Given the description of an element on the screen output the (x, y) to click on. 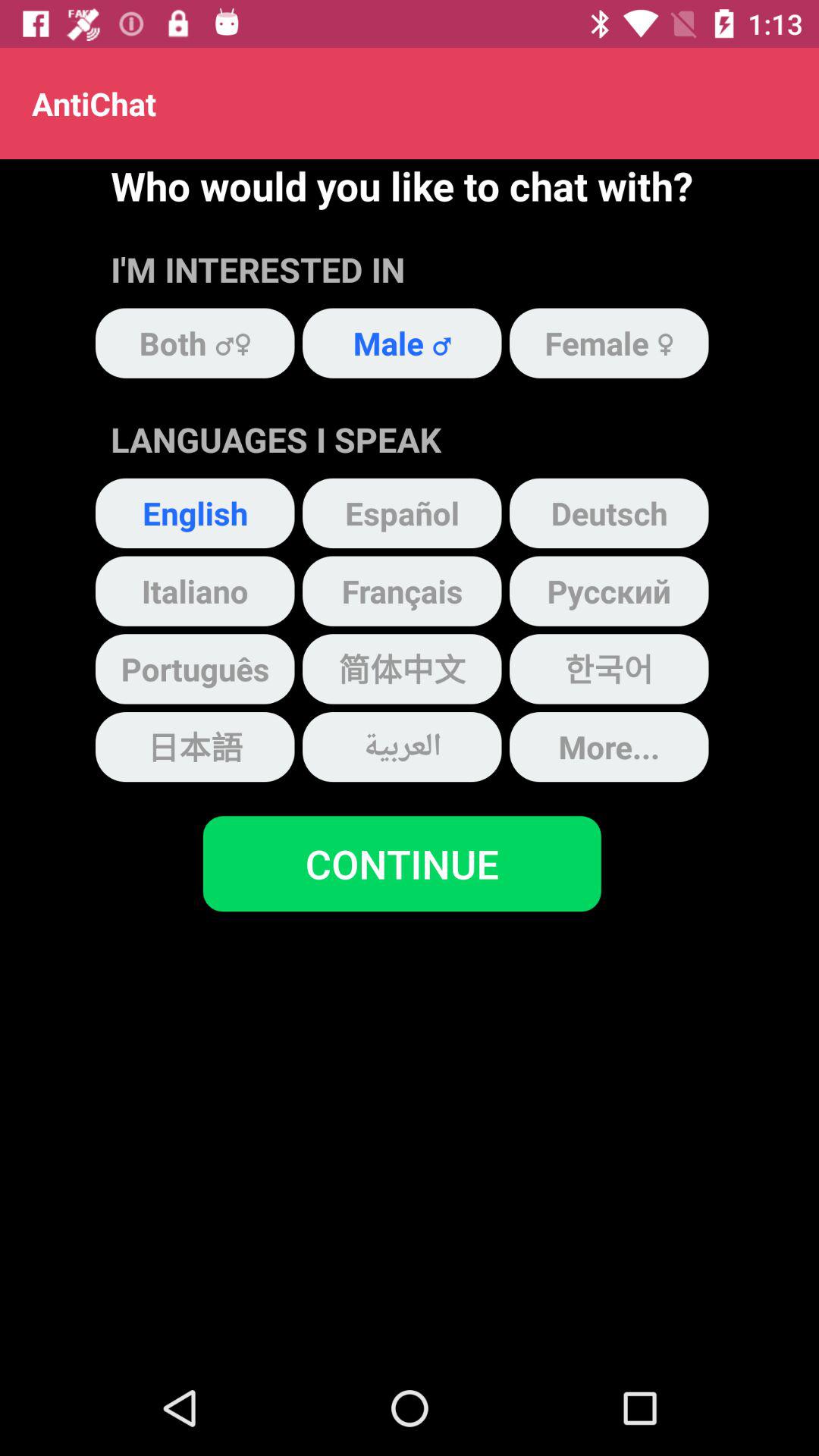
click the icon to the right of english item (401, 513)
